Given the description of an element on the screen output the (x, y) to click on. 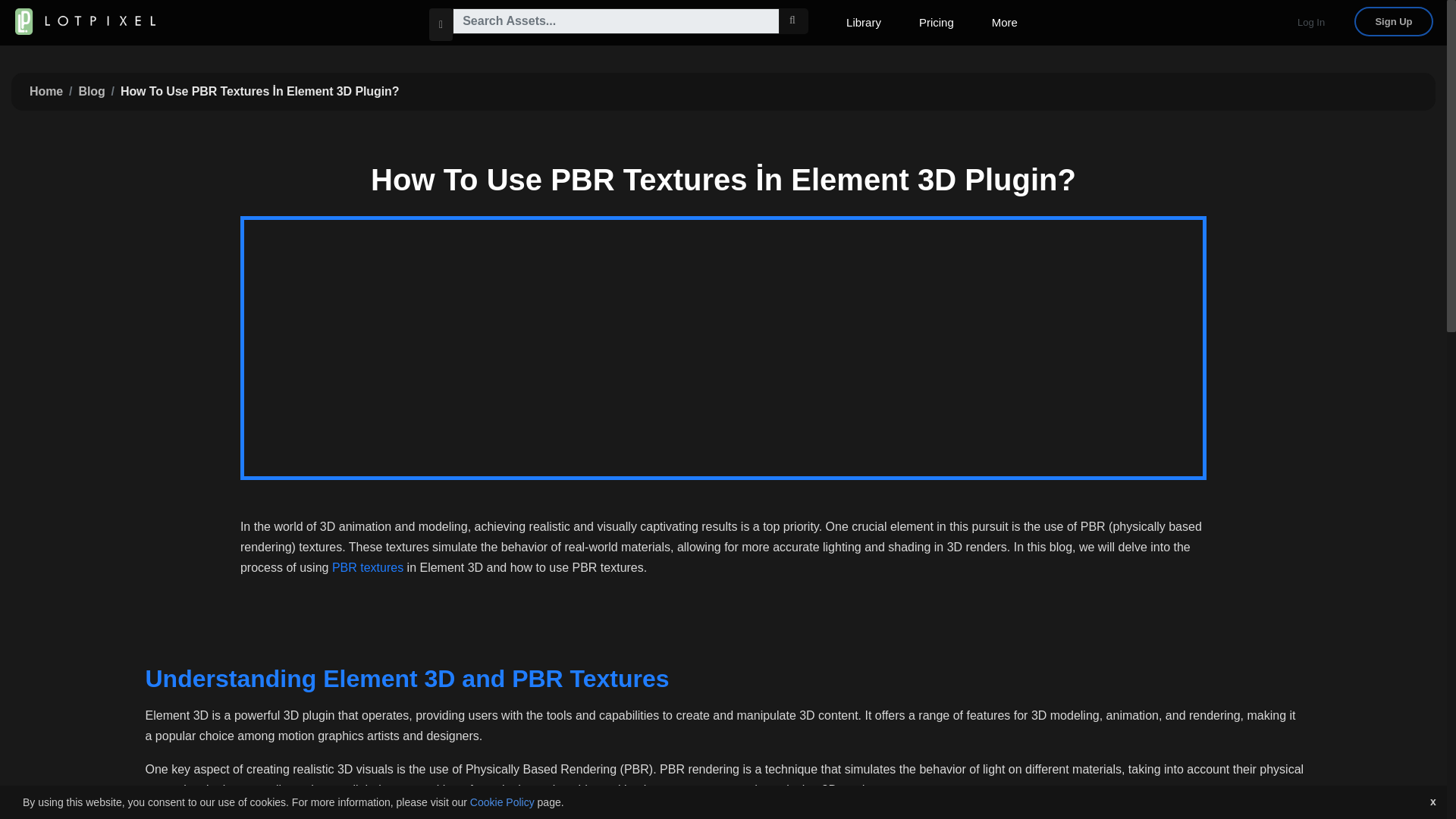
Cookie Policy Page (502, 802)
Library (863, 22)
Cookie Policy (502, 802)
PBR Texture Library (367, 567)
Log In (1310, 21)
Sign Up (1401, 19)
Pricing (935, 22)
Sign Up (1393, 21)
Log In (1309, 19)
